Given the description of an element on the screen output the (x, y) to click on. 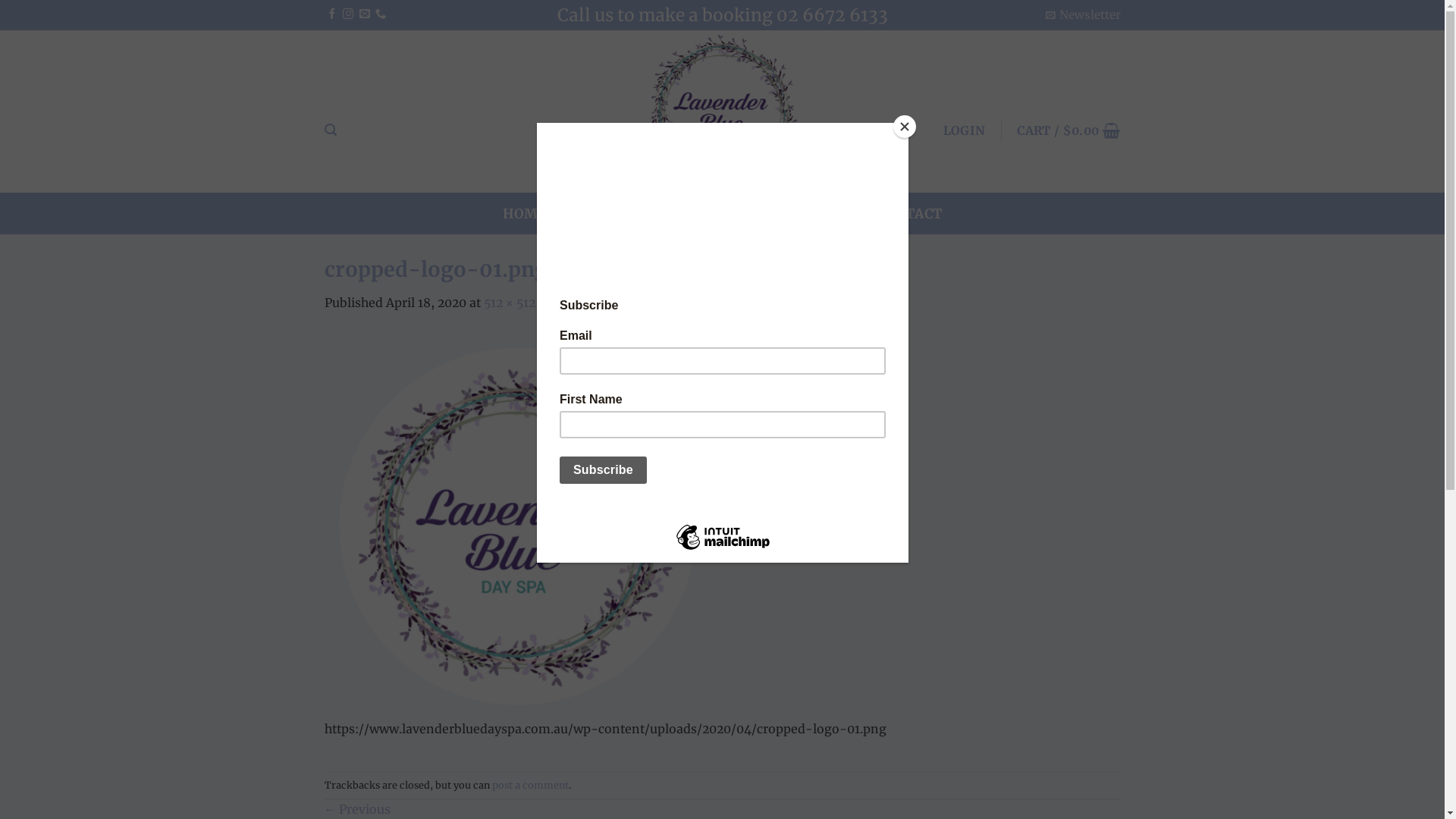
SHOP Element type: text (685, 213)
Send us an email Element type: hover (364, 14)
Newsletter Element type: text (1082, 15)
SERVICES Element type: text (764, 213)
PACKAGES Element type: text (603, 213)
Call us Element type: hover (380, 14)
BLOG Element type: text (837, 213)
cropped-logo-01.png Element type: hover (518, 523)
post a comment Element type: text (529, 784)
CART / $0.00 Element type: text (1068, 129)
Follow on Facebook Element type: hover (331, 14)
cropped-logo-01.png Element type: text (618, 302)
LOGIN Element type: text (964, 129)
HOME Element type: text (524, 213)
CONTACT Element type: text (908, 213)
Follow on Instagram Element type: hover (347, 14)
